Given the description of an element on the screen output the (x, y) to click on. 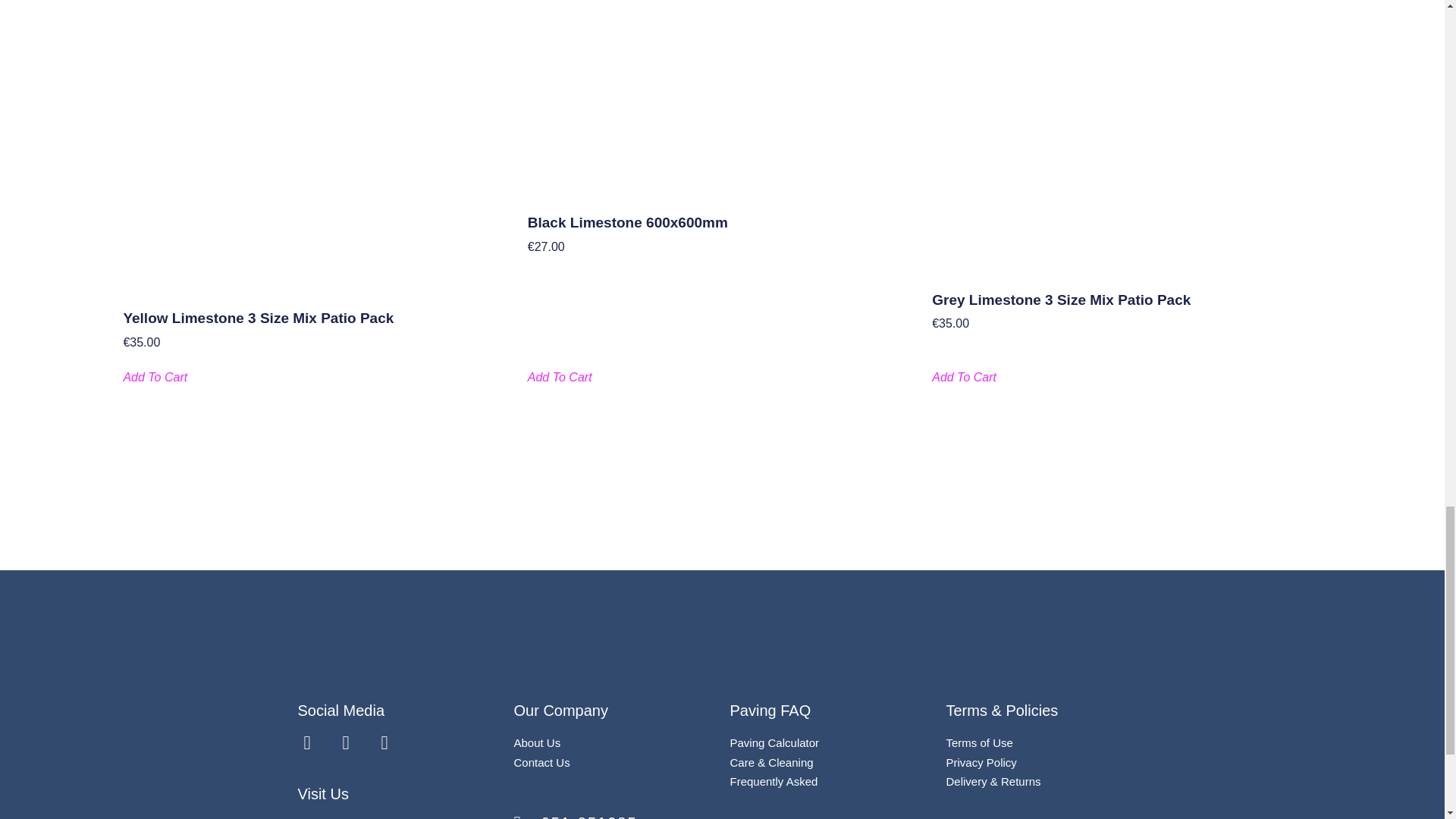
About Us (536, 742)
Add To Cart (559, 377)
Privacy Policy (981, 762)
Add To Cart (154, 377)
Add To Cart (963, 377)
Contact Us (541, 762)
Frequently Asked (772, 780)
Terms of Use (979, 742)
